Given the description of an element on the screen output the (x, y) to click on. 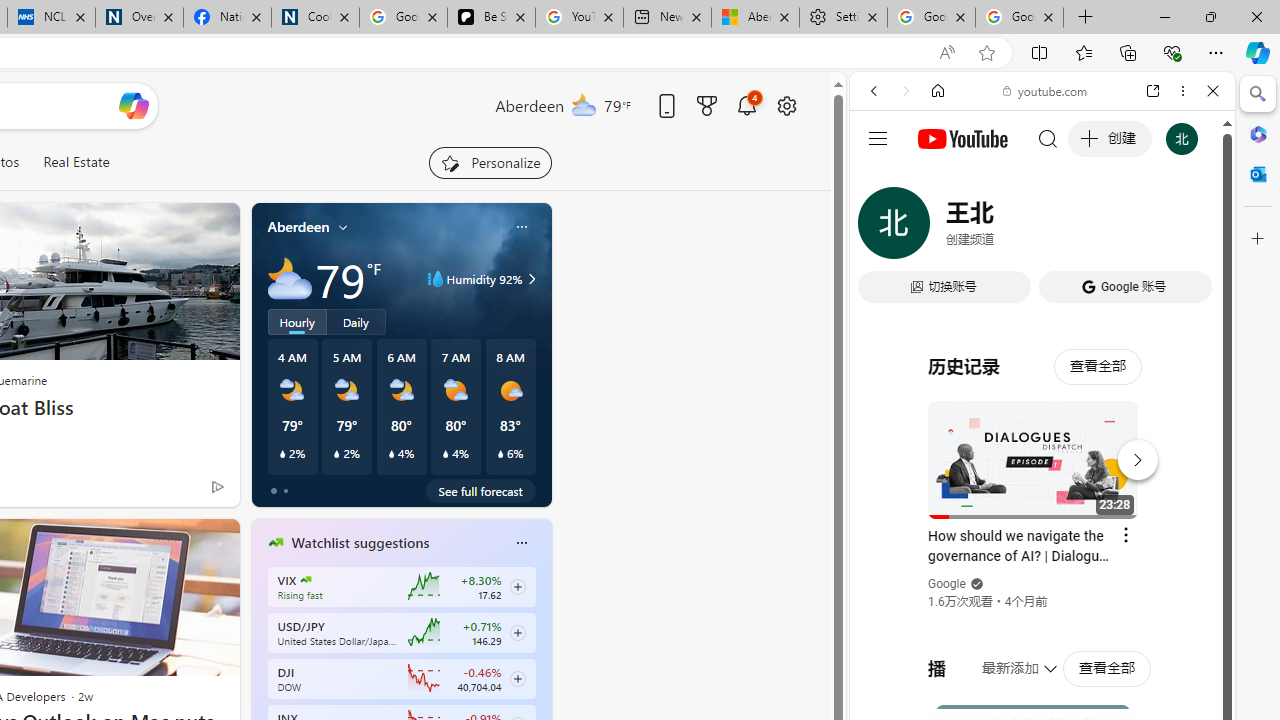
VIDEOS (1006, 228)
This site scope (936, 180)
Class: follow-button  m (517, 678)
#you (1042, 445)
Humidity 92% (529, 278)
Search videos from youtube.com (1005, 657)
Google (1042, 494)
Real Estate (75, 162)
